Given the description of an element on the screen output the (x, y) to click on. 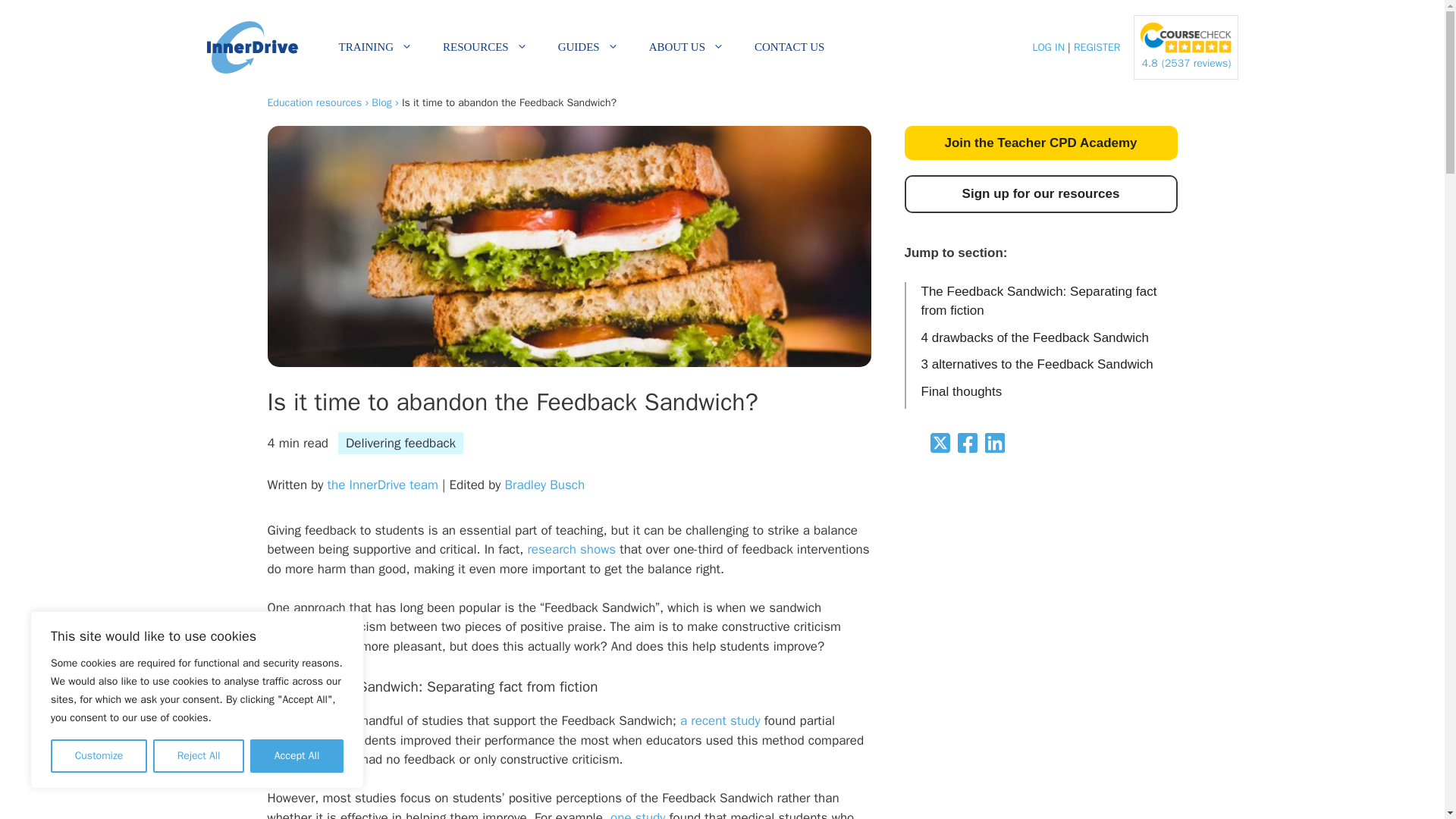
GUIDES (588, 46)
CONTACT US (789, 46)
RESOURCES (485, 46)
Reject All (198, 756)
TRAINING (375, 46)
Accept All (296, 756)
Customize (98, 756)
ABOUT US (686, 46)
